Given the description of an element on the screen output the (x, y) to click on. 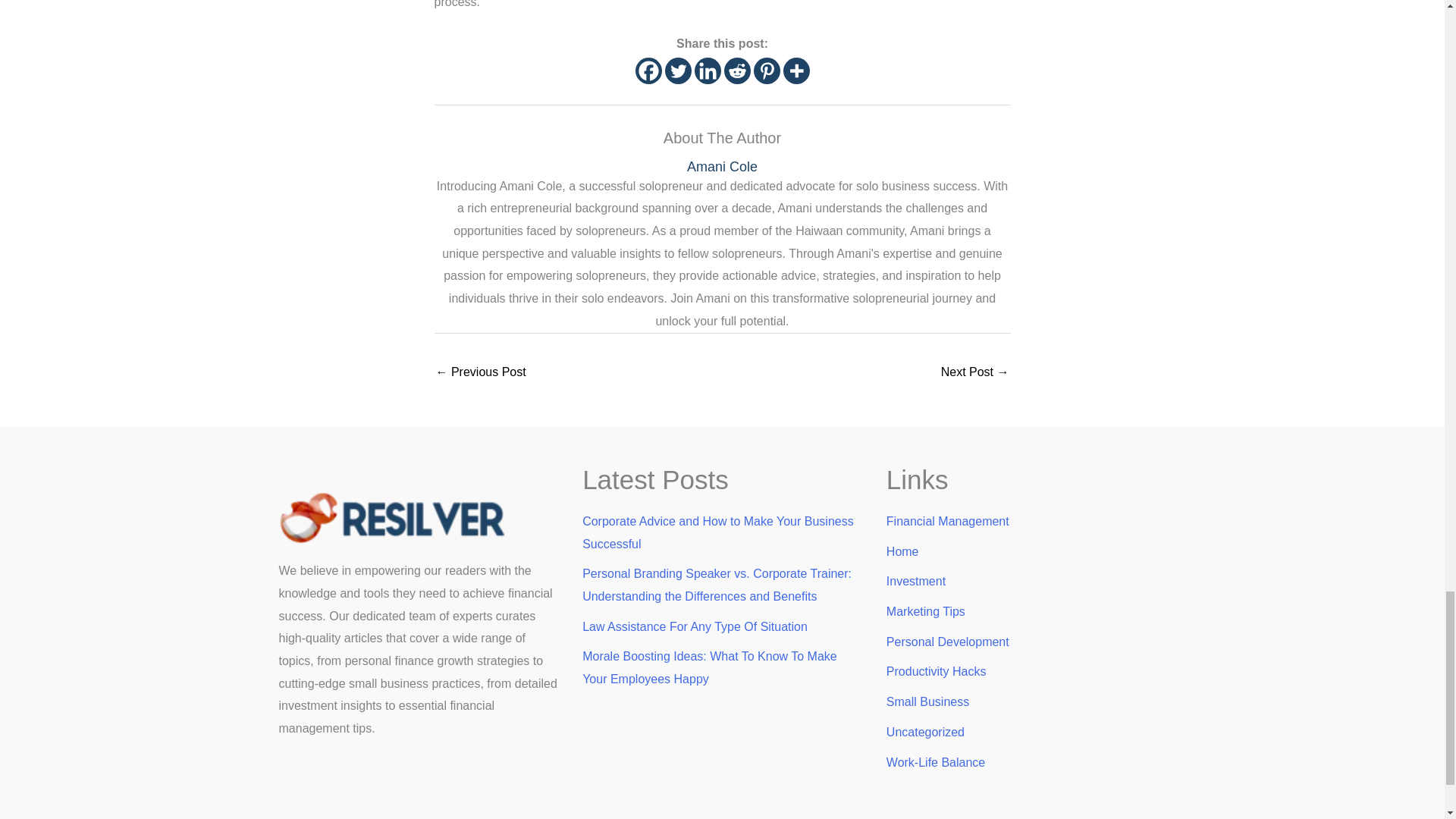
Financial Management (947, 521)
Investment (915, 581)
Amani Cole (721, 166)
Twitter (676, 70)
More (796, 70)
Uncategorized (924, 731)
Corporate Advice and How to Make Your Business Successful (717, 532)
Small Business (927, 701)
Reddit (736, 70)
Pinterest (767, 70)
Own an Icon: Top Three Reasons for Owning a Volkswagen (480, 373)
Personal Development (947, 641)
Work-Life Balance (935, 762)
